Given the description of an element on the screen output the (x, y) to click on. 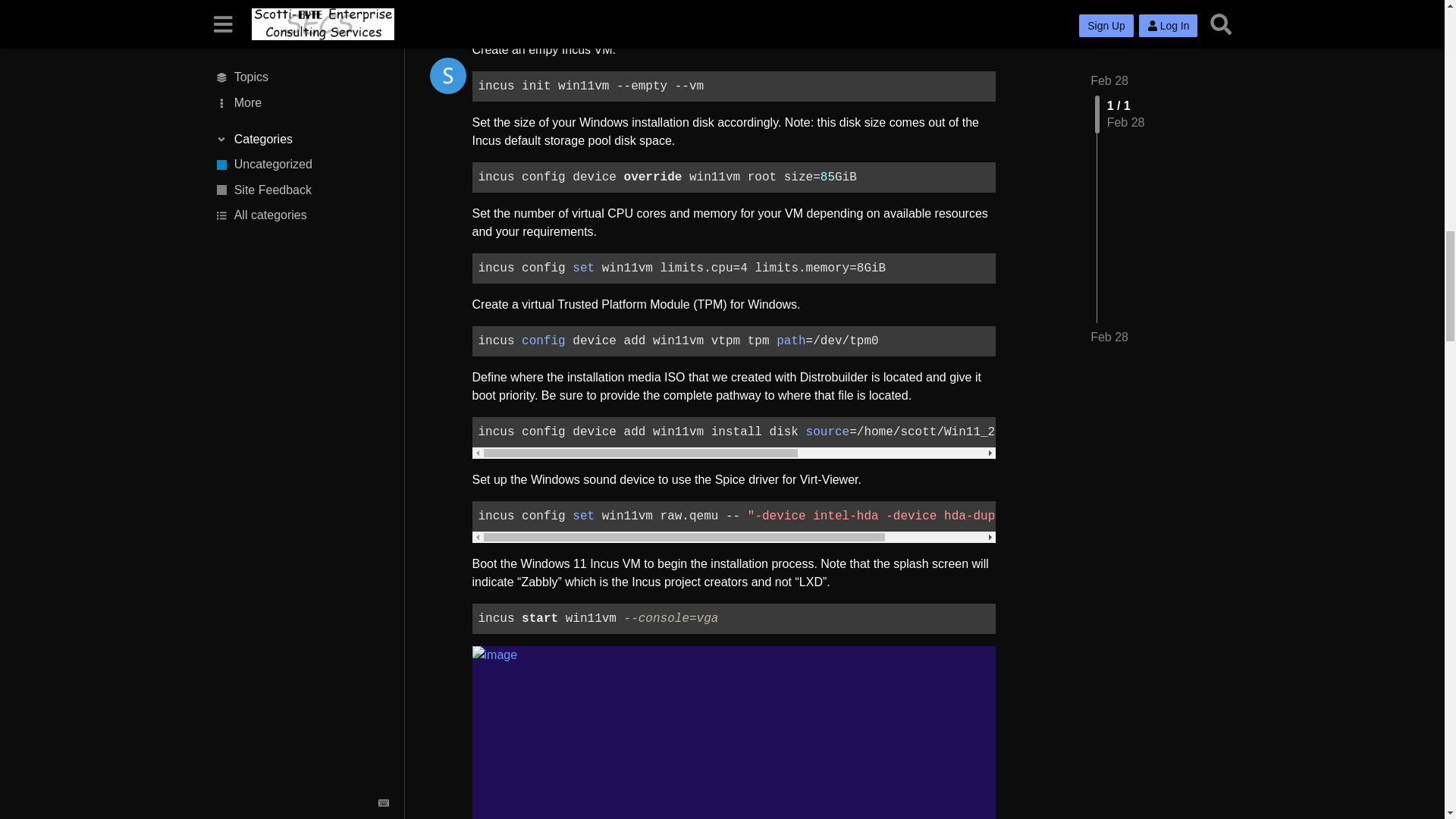
image (732, 732)
